Given the description of an element on the screen output the (x, y) to click on. 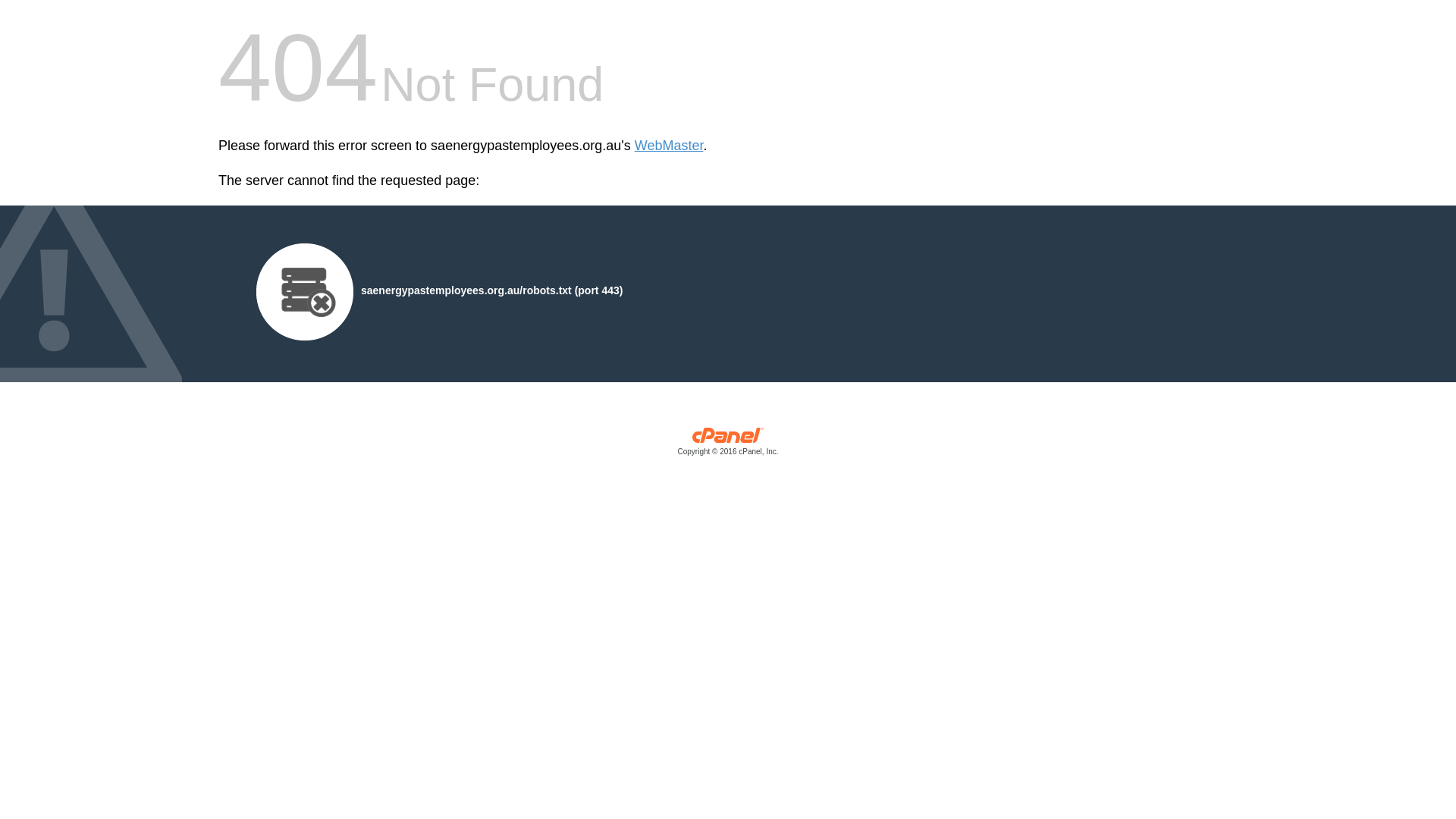
WebMaster Element type: text (668, 145)
